Given the description of an element on the screen output the (x, y) to click on. 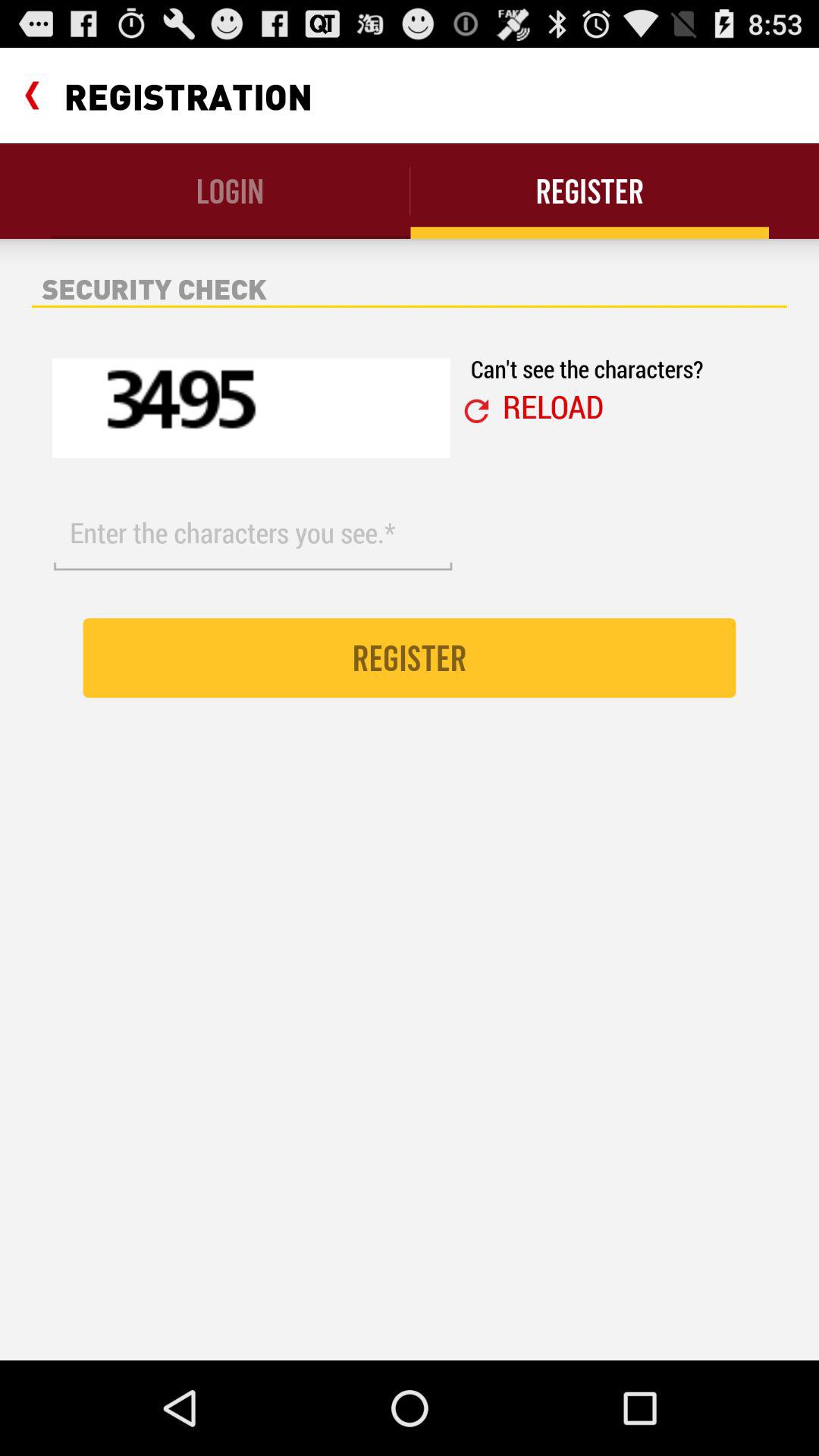
turn on item above the register item (553, 406)
